Given the description of an element on the screen output the (x, y) to click on. 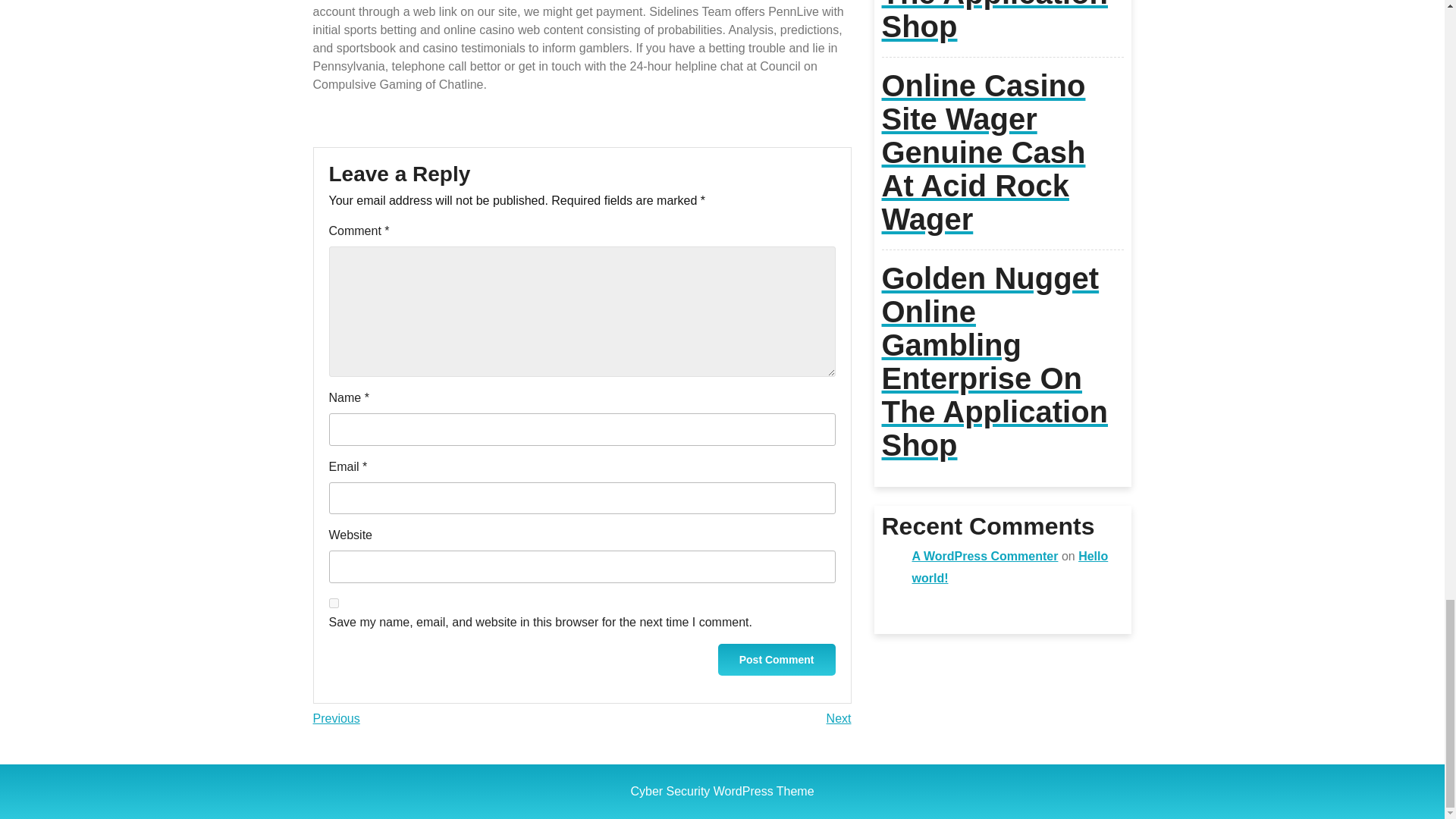
yes (334, 603)
Post Comment (336, 717)
Post Comment (839, 717)
